Given the description of an element on the screen output the (x, y) to click on. 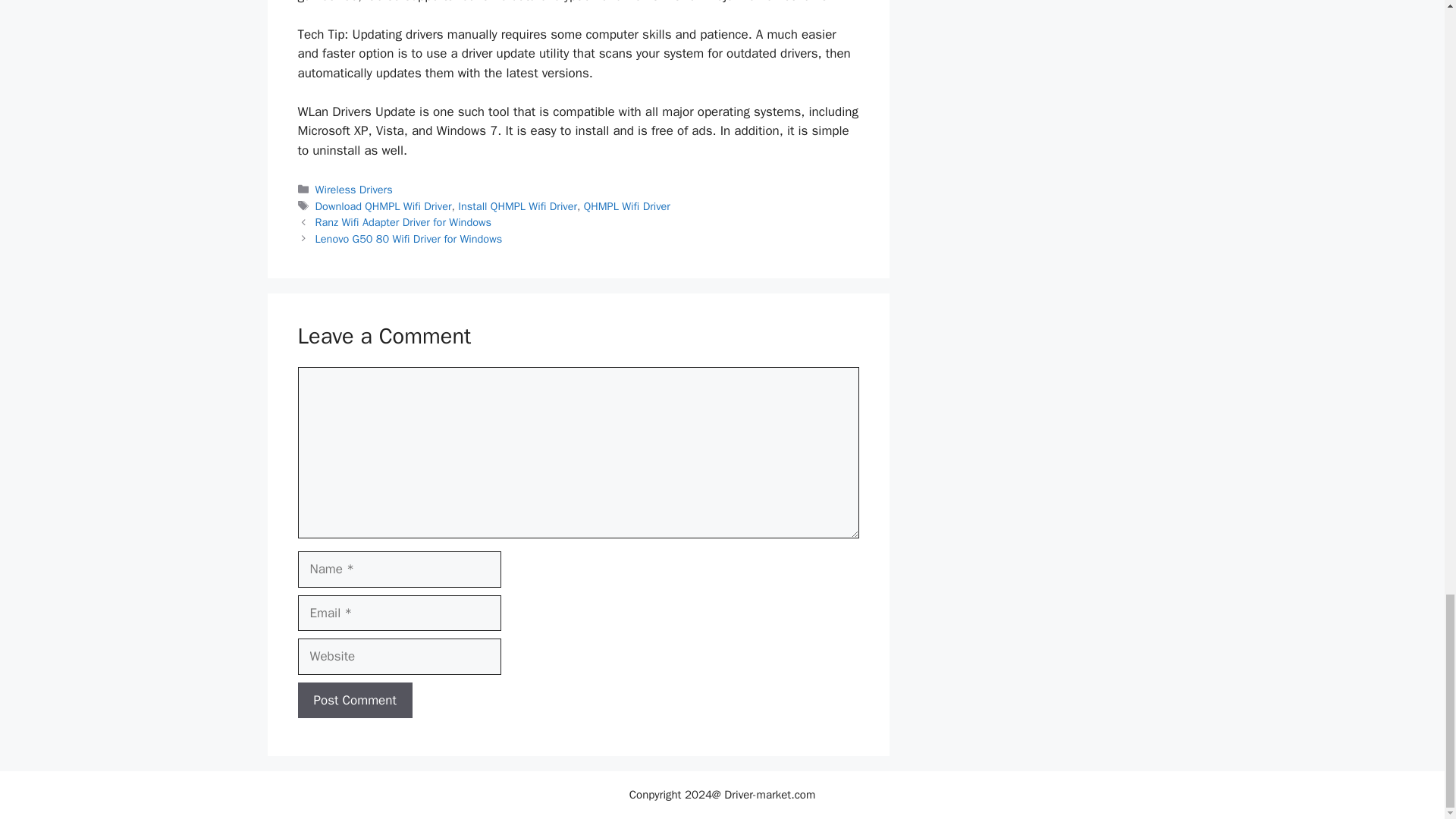
Post Comment (354, 700)
Install QHMPL Wifi Driver (517, 205)
Wireless Drivers (354, 189)
Ranz Wifi Adapter Driver for Windows (403, 222)
Post Comment (354, 700)
Download QHMPL Wifi Driver (383, 205)
QHMPL Wifi Driver (626, 205)
Lenovo G50 80 Wifi Driver for Windows (408, 238)
